Given the description of an element on the screen output the (x, y) to click on. 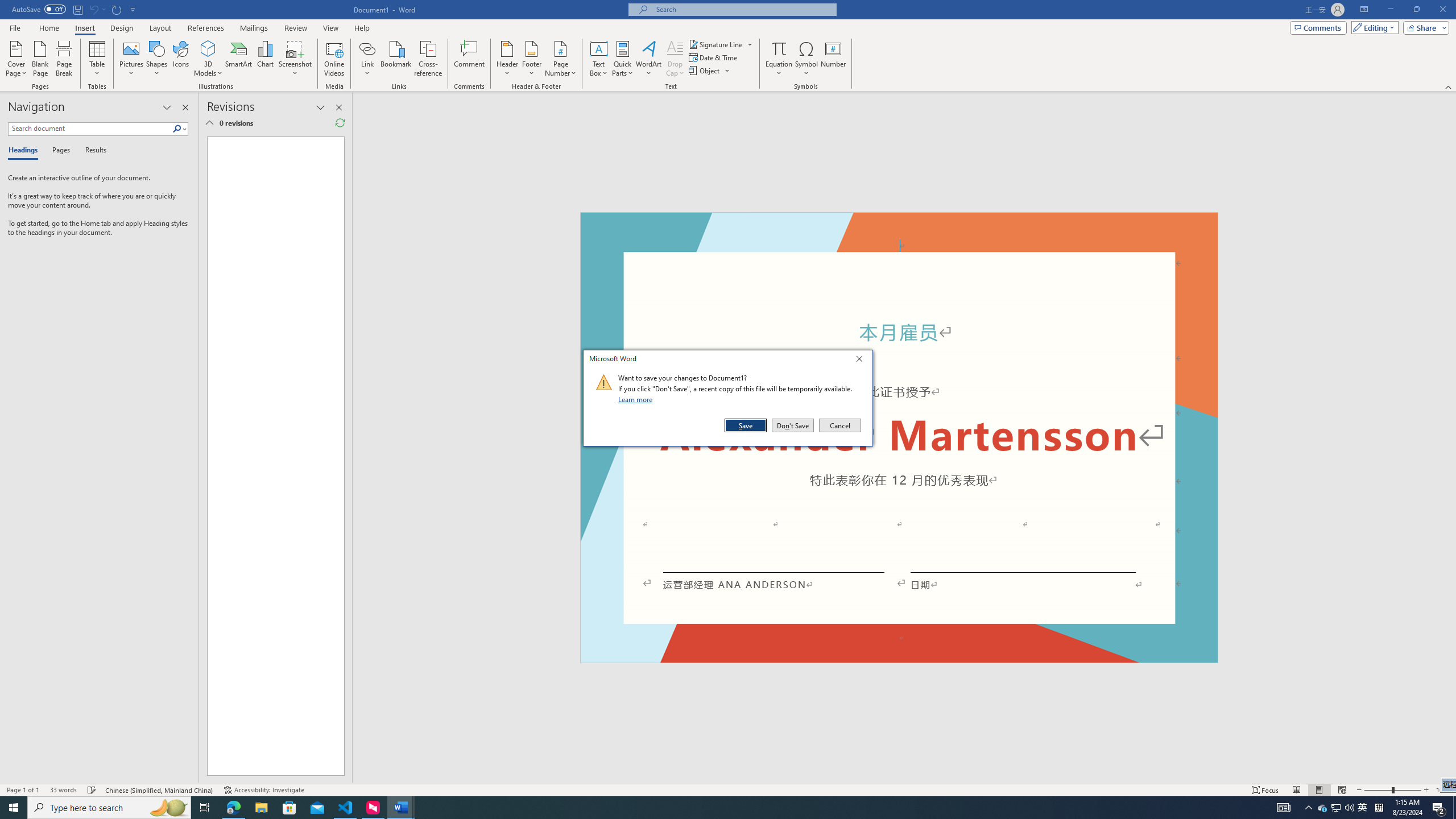
Running applications (700, 807)
Object... (709, 69)
Tray Input Indicator - Chinese (Simplified, China) (1378, 807)
Page Break (63, 58)
Table (97, 58)
